Given the description of an element on the screen output the (x, y) to click on. 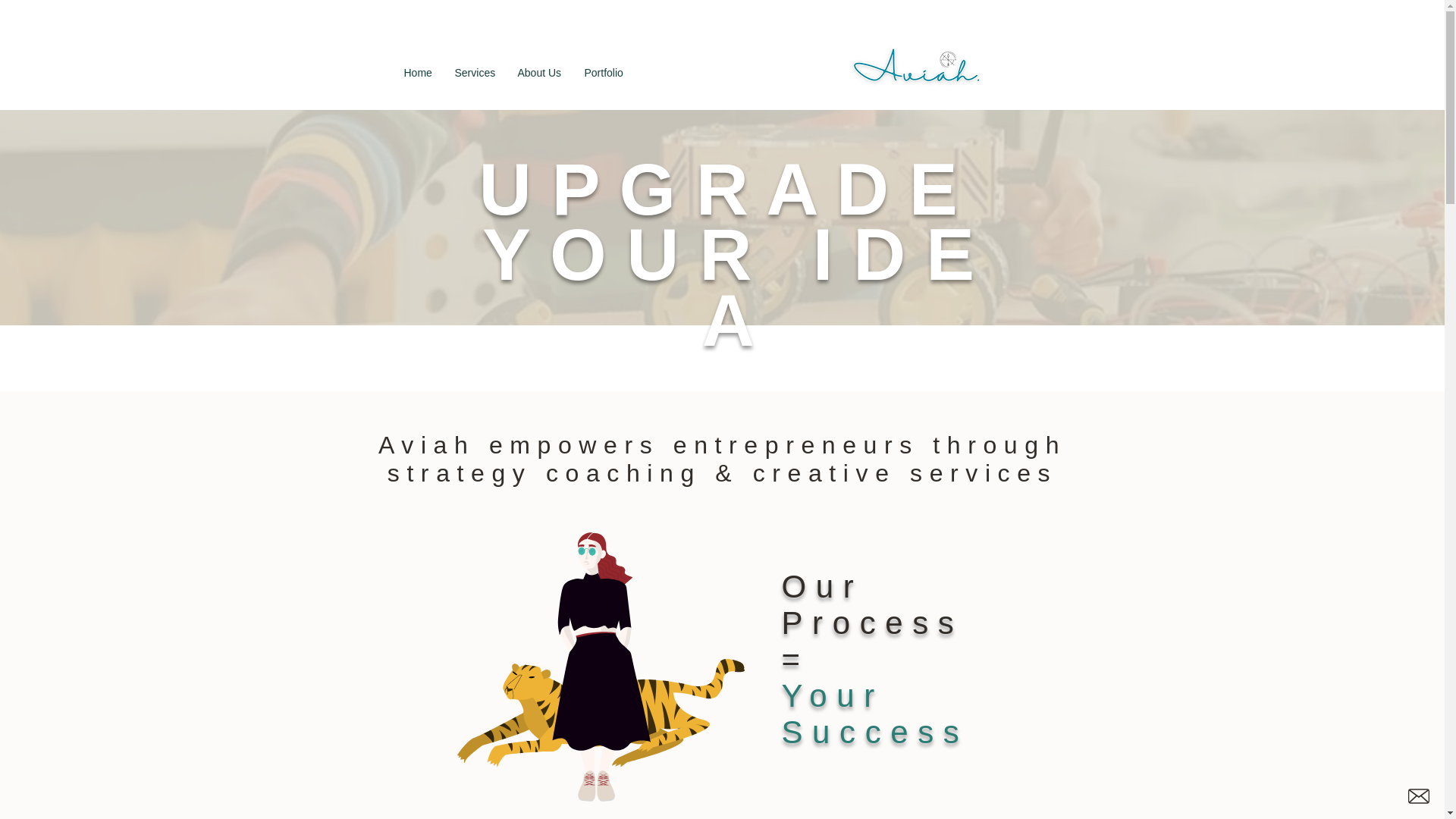
Screen Shot 2023-03-24 at 6.05.55 PM.png (915, 62)
Portfolio (603, 72)
Services (473, 72)
About Us (539, 72)
Home (418, 72)
